Given the description of an element on the screen output the (x, y) to click on. 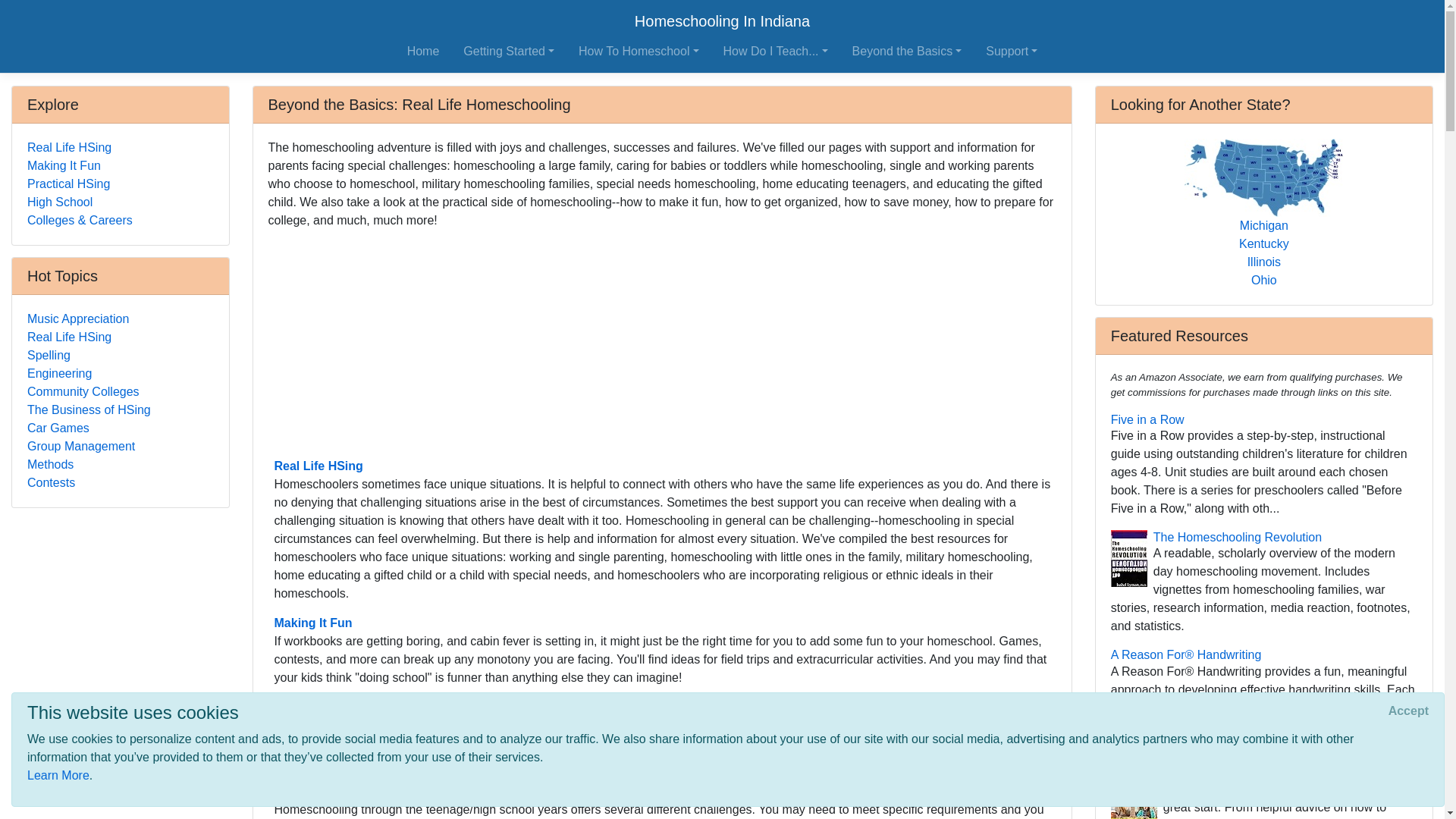
Beyond the Basics (906, 51)
How Do I Teach... (775, 51)
How To Homeschool (638, 51)
Getting Started (508, 51)
Homeschooling In Indiana (721, 20)
Home (423, 51)
